Given the description of an element on the screen output the (x, y) to click on. 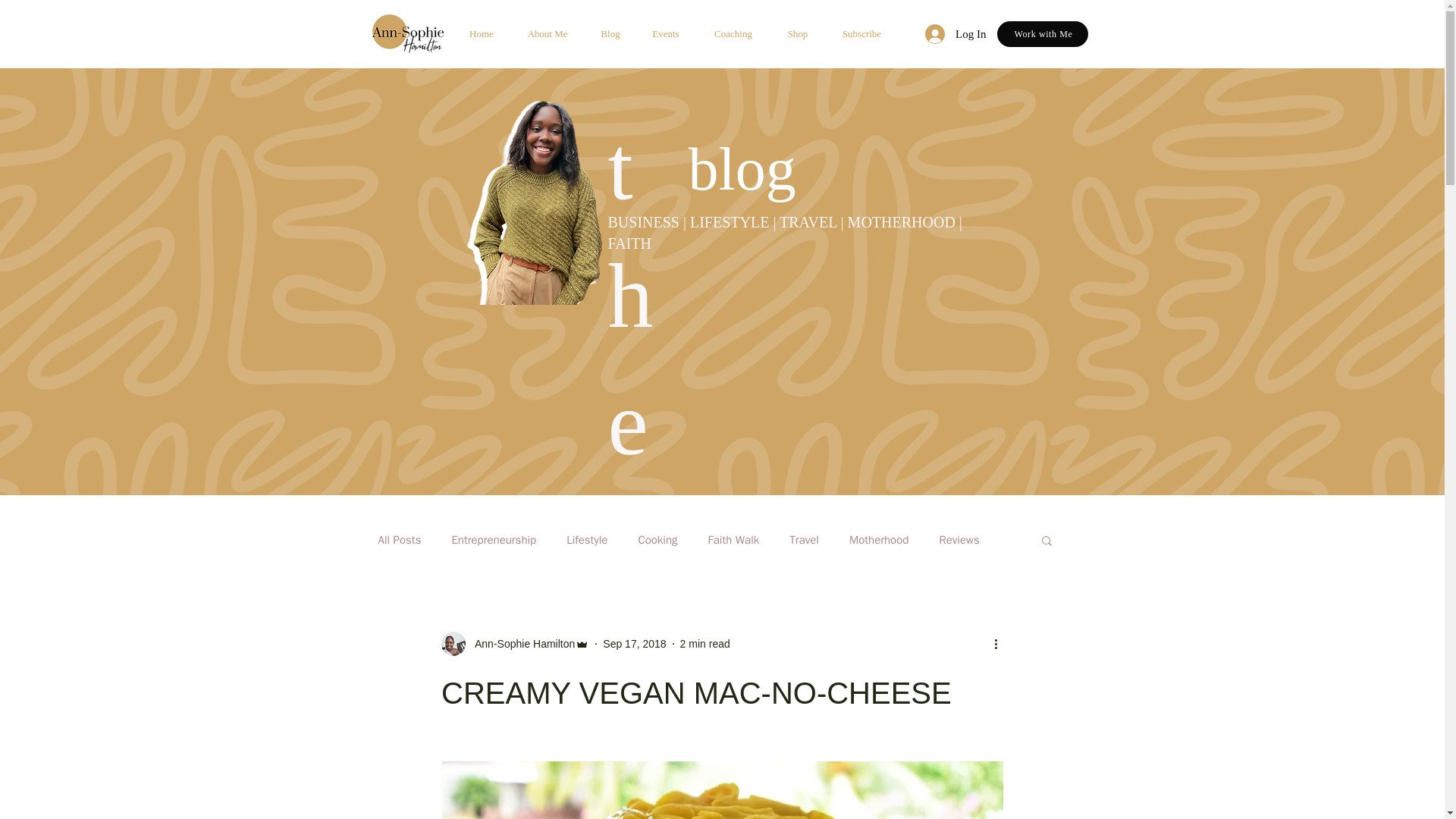
Ann-Sophie Hamilton (515, 643)
All Posts (398, 539)
Faith Walk (733, 539)
Sep 17, 2018 (633, 643)
Blog (610, 34)
Lifestyle (586, 539)
Motherhood (878, 539)
About Me (547, 34)
2 min read (704, 643)
Events (664, 34)
Log In (954, 33)
Reviews (958, 539)
Subscribe (862, 34)
Ann-Sophie Hamilton (520, 643)
Work with Me (1041, 33)
